Given the description of an element on the screen output the (x, y) to click on. 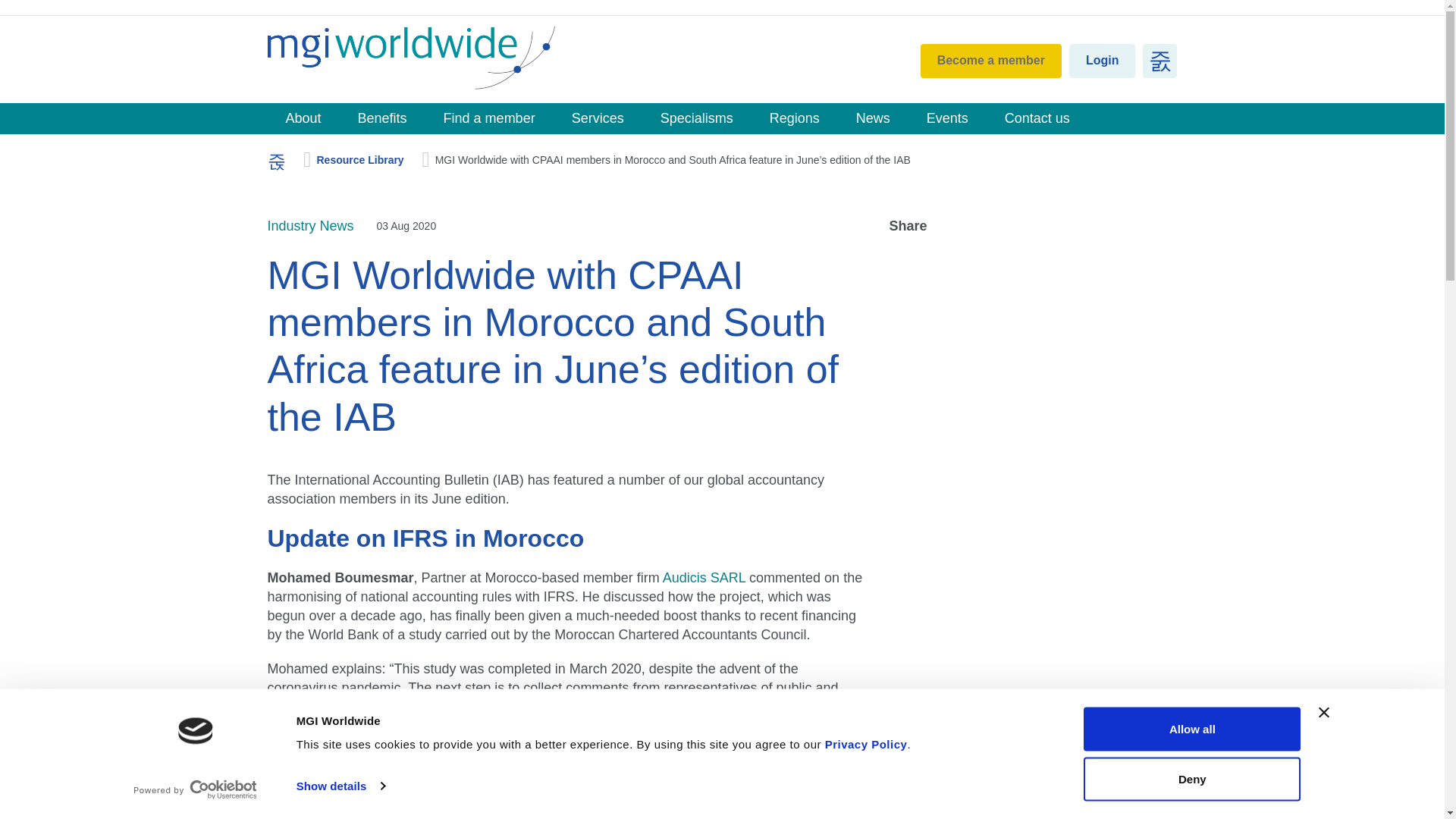
Privacy Policy (866, 744)
Show details (340, 785)
